Given the description of an element on the screen output the (x, y) to click on. 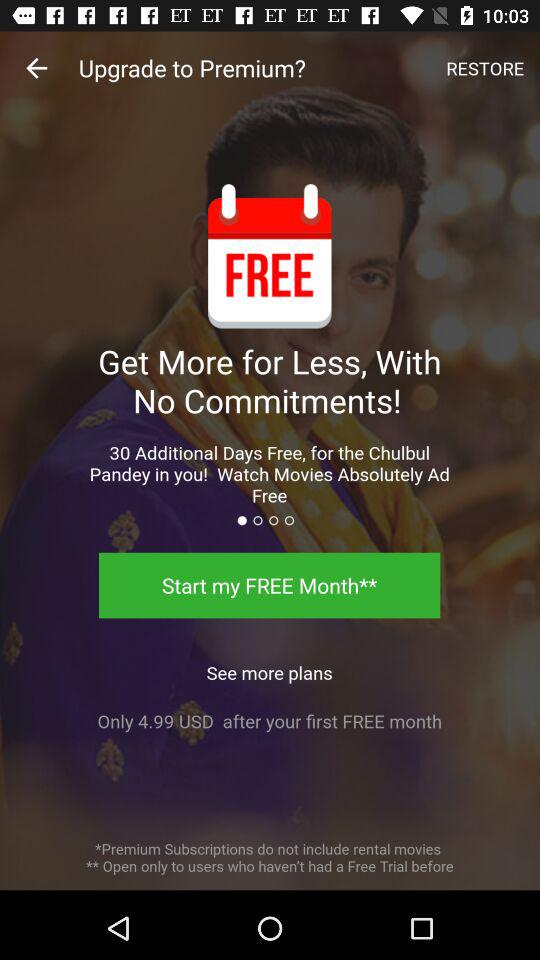
press the item at the top right corner (485, 67)
